Given the description of an element on the screen output the (x, y) to click on. 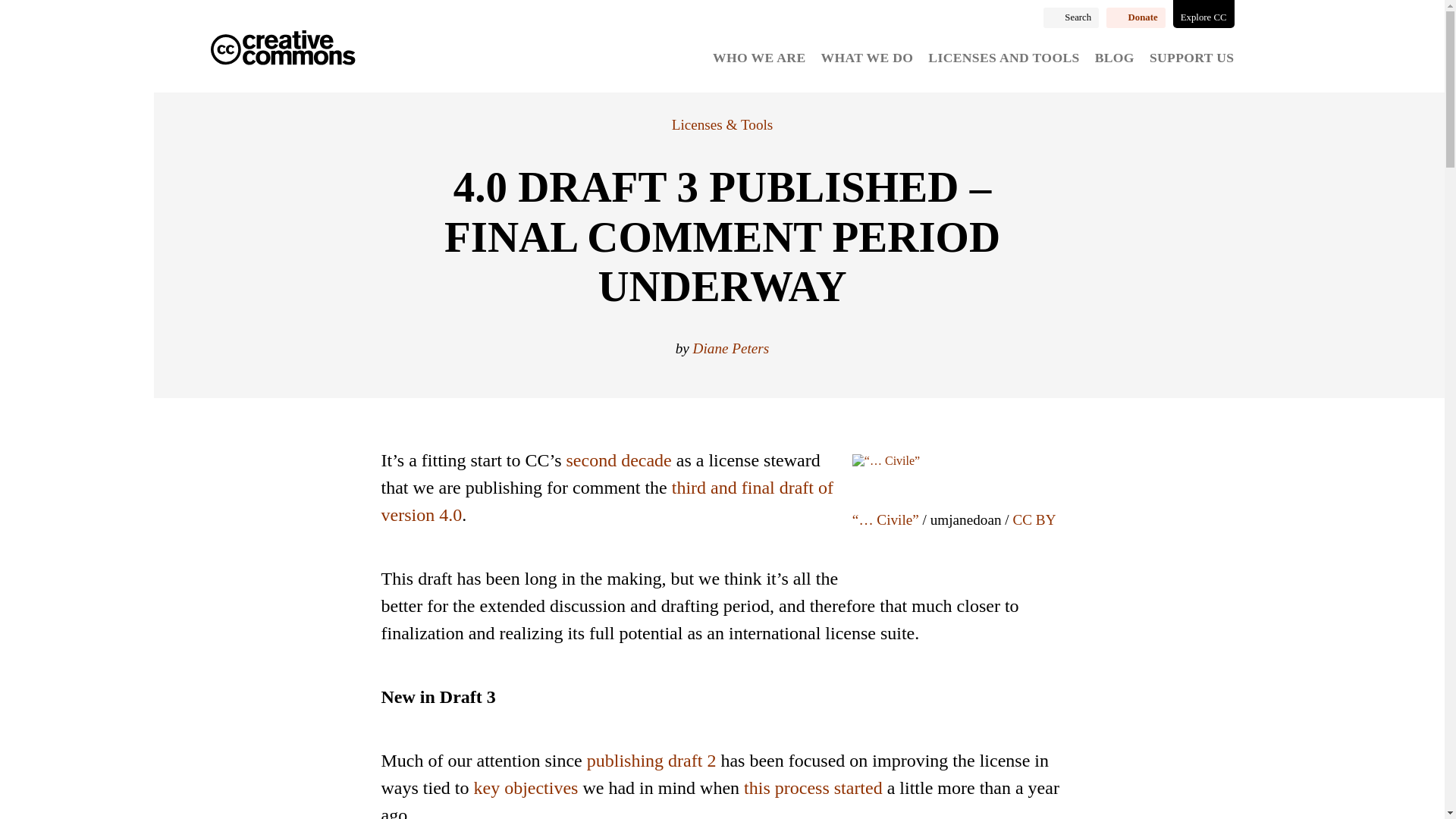
this process started (813, 787)
publishing draft 2 (651, 760)
third and final draft of version 4.0 (606, 500)
key objectives (525, 787)
WHO WE ARE (759, 57)
Explore CC (1203, 13)
second decade (618, 460)
CC BY (1033, 519)
WHAT WE DO (867, 57)
SUPPORT US (1192, 57)
Search (1071, 17)
Donate (1136, 17)
Creative Commons (283, 48)
LICENSES AND TOOLS (1003, 57)
BLOG (1114, 57)
